Given the description of an element on the screen output the (x, y) to click on. 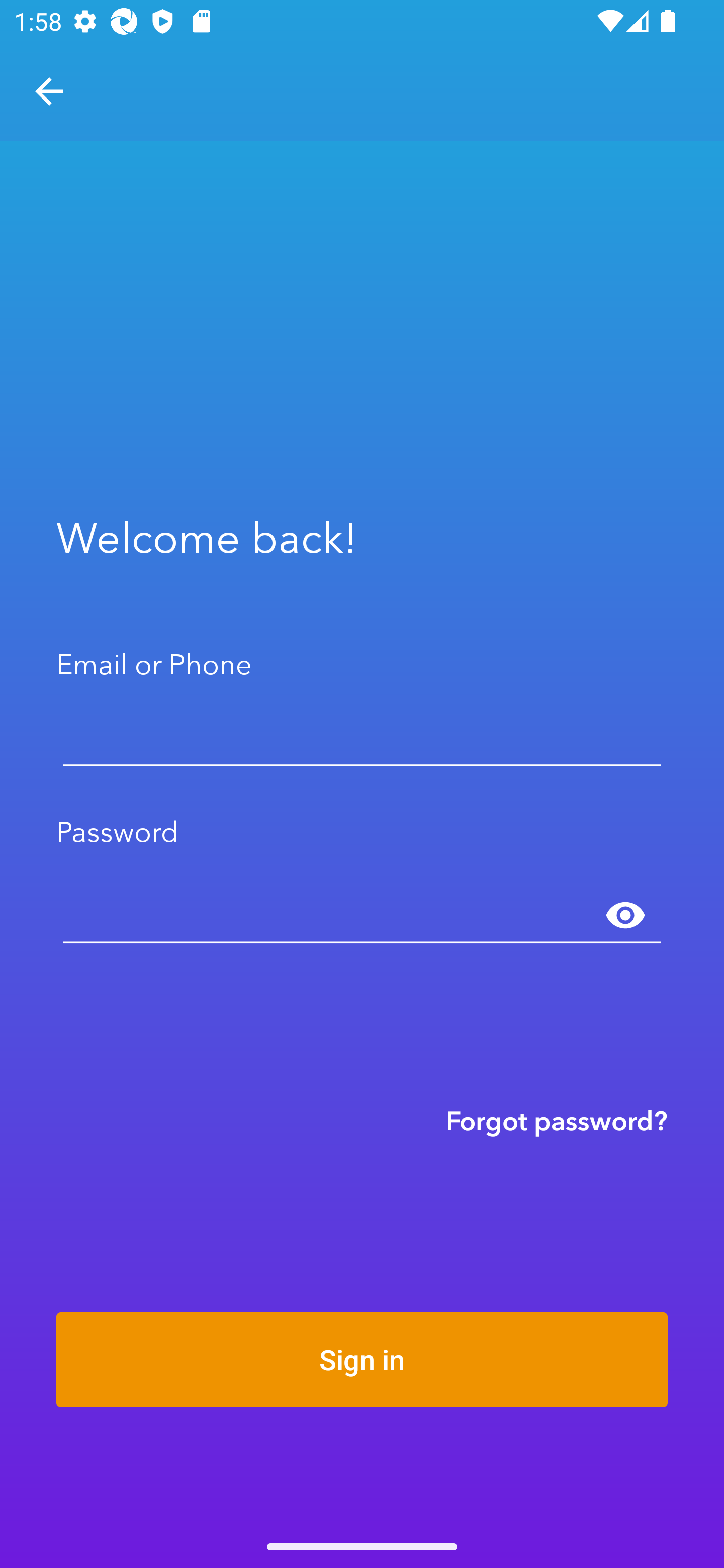
Navigate up (49, 91)
Show password (625, 915)
Forgot password? (556, 1119)
Sign in (361, 1359)
